Given the description of an element on the screen output the (x, y) to click on. 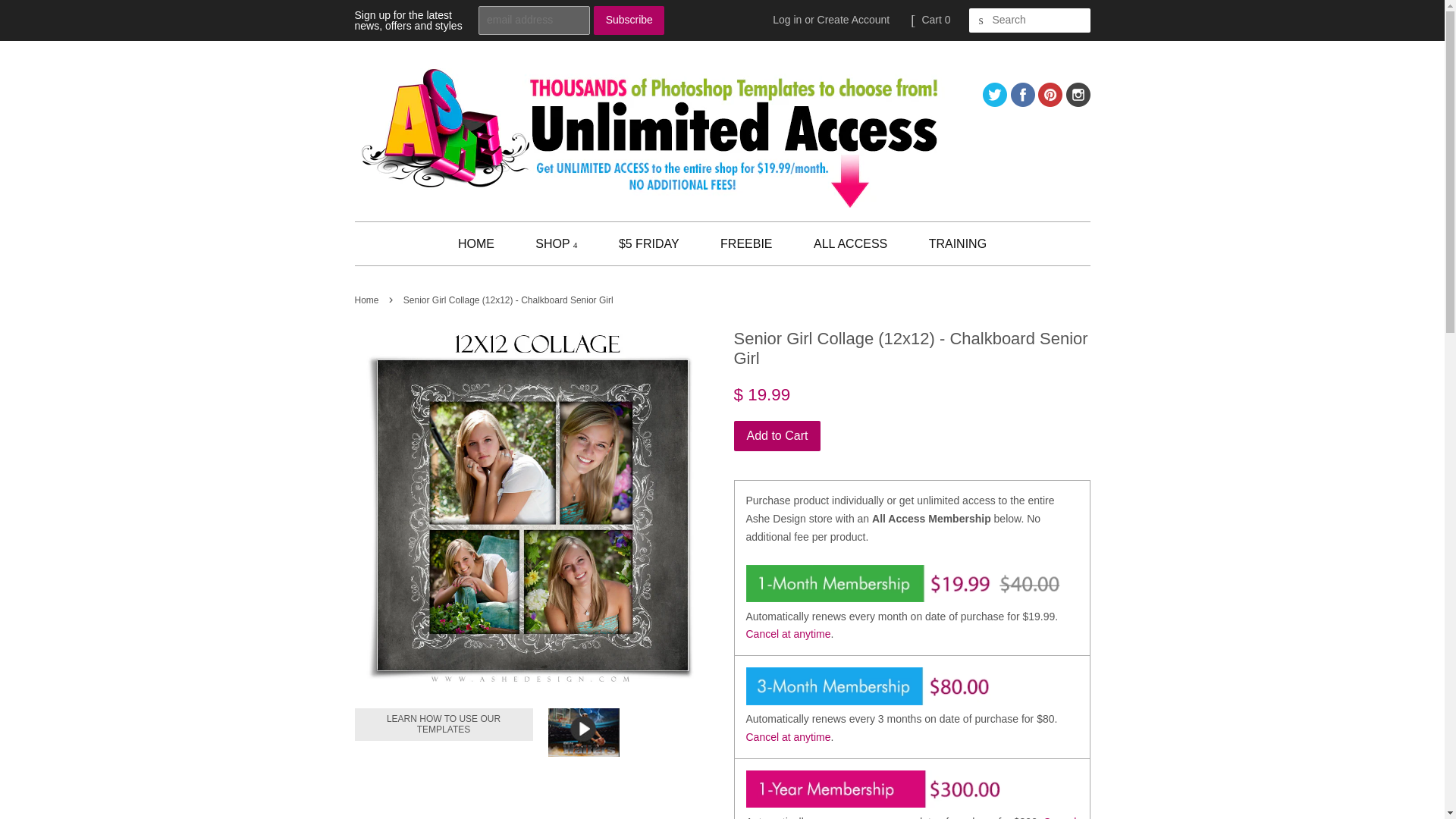
AsheDesign on Twitter (994, 102)
Twitter (994, 102)
Create Account (852, 19)
Subscribe (628, 20)
AsheDesign on Pinterest (1050, 102)
AsheDesign on Instagram (1077, 102)
Search (980, 20)
HOME (481, 243)
Pinterest (1050, 102)
SHOP (556, 243)
Instagram (1077, 102)
AsheDesign on Facebook (1022, 102)
Subscribe (628, 20)
Cart 0 (935, 20)
Log in (787, 19)
